Given the description of an element on the screen output the (x, y) to click on. 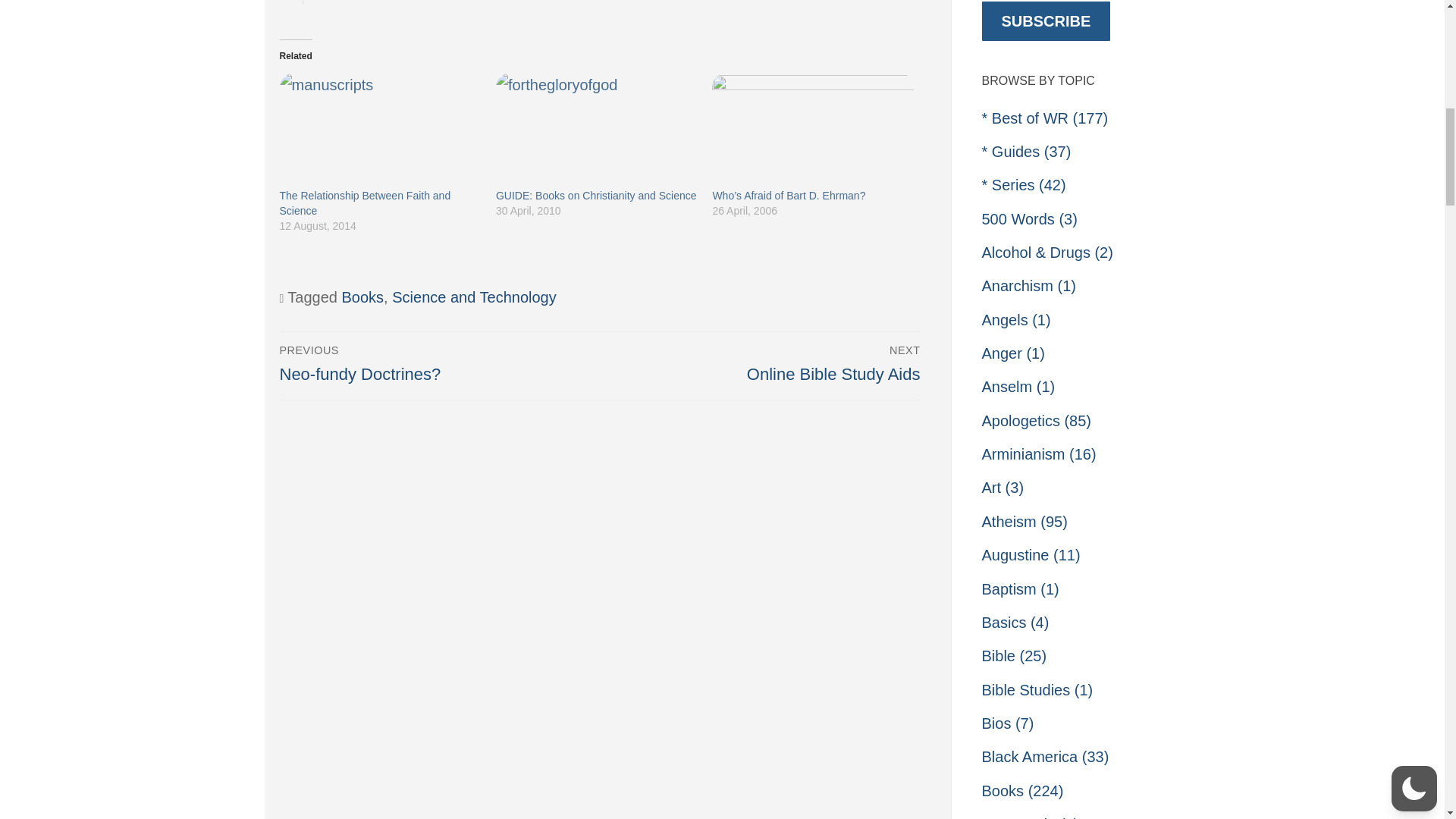
GUIDE: Books on Christianity and Science (596, 195)
The Relationship Between Faith and Science (435, 363)
Science and Technology (364, 203)
Books (473, 297)
